Given the description of an element on the screen output the (x, y) to click on. 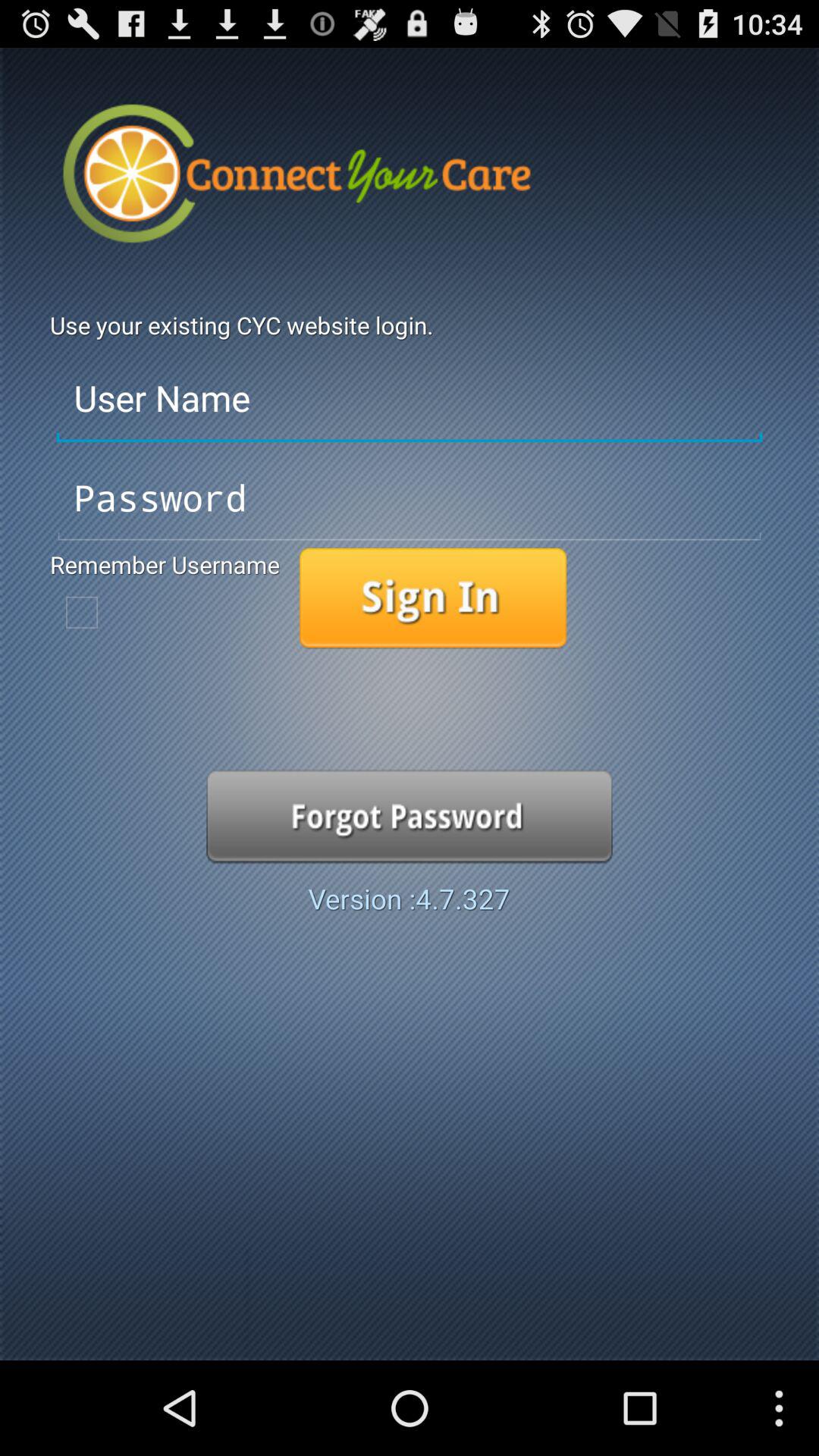
turn on item above the version 4 7 item (409, 815)
